Given the description of an element on the screen output the (x, y) to click on. 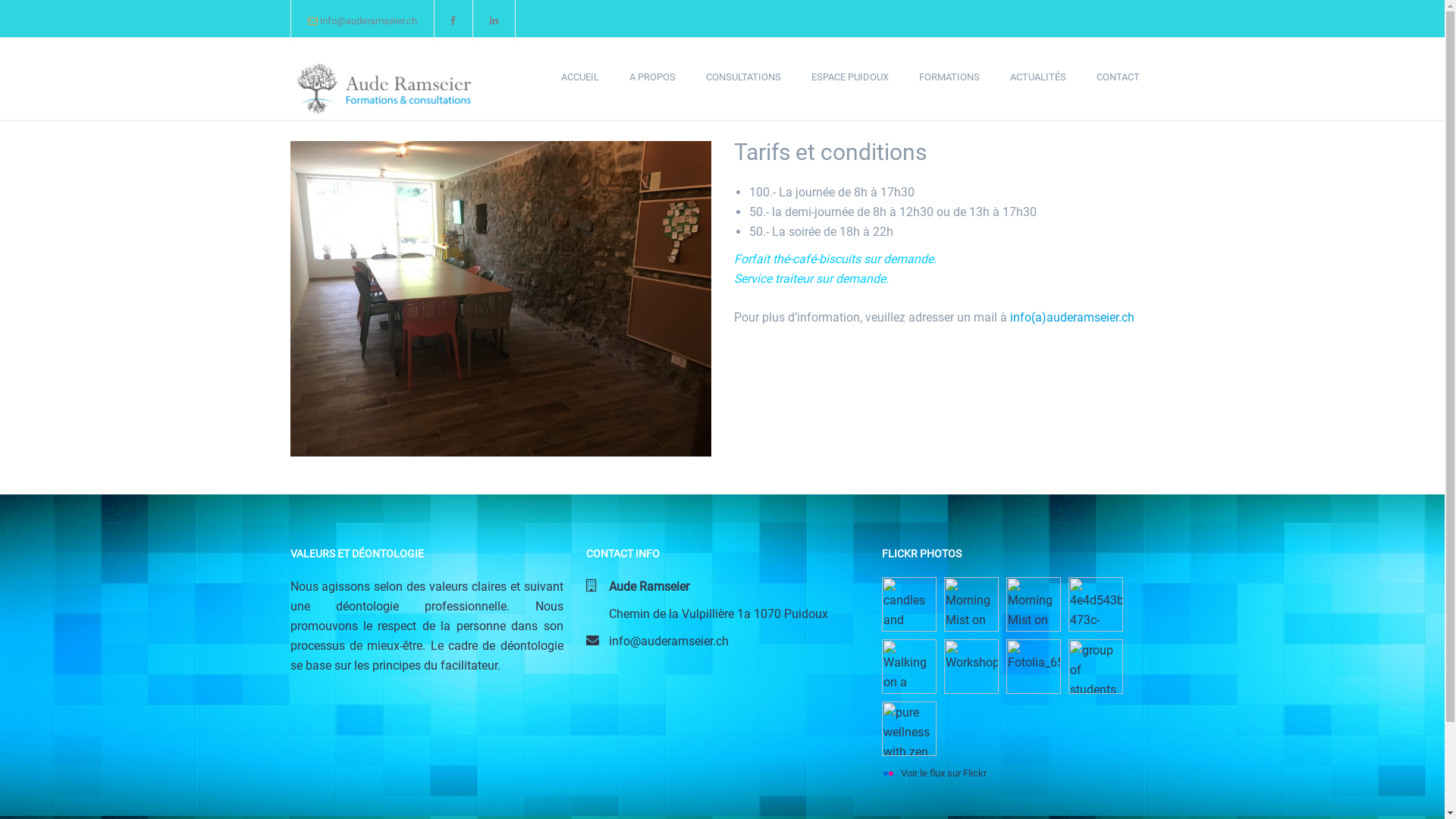
CONSULTATIONS Element type: text (742, 76)
CONTACT Element type: text (1117, 76)
Home Element type: hover (384, 79)
4e4d543b-473c-49d4-b2f4-80d89fdc2f20 Element type: hover (1094, 604)
info(a)auderamseier.ch Element type: text (1072, 317)
A PROPOS Element type: text (652, 76)
group of students Element type: hover (1094, 666)
Morning Mist on the Bay Element type: hover (1032, 604)
Voir le flux sur Flickr Element type: text (933, 773)
candles and stones for spa Element type: hover (908, 604)
Morning Mist on the Bay Element type: hover (970, 604)
Workshop Element type: hover (970, 666)
ESPACE PUIDOUX Element type: text (849, 76)
info@auderamseier.ch Element type: text (668, 640)
pure wellness with zen orchids Element type: hover (908, 728)
Fotolia_65045073_S Element type: hover (1032, 666)
ACCUEIL Element type: text (580, 76)
espace-auderamseier-2018-2 Element type: hover (499, 298)
info@auderamseier.ch Element type: text (368, 20)
Walking on a face-shaped path Element type: hover (908, 666)
FORMATIONS Element type: text (948, 76)
